Given the description of an element on the screen output the (x, y) to click on. 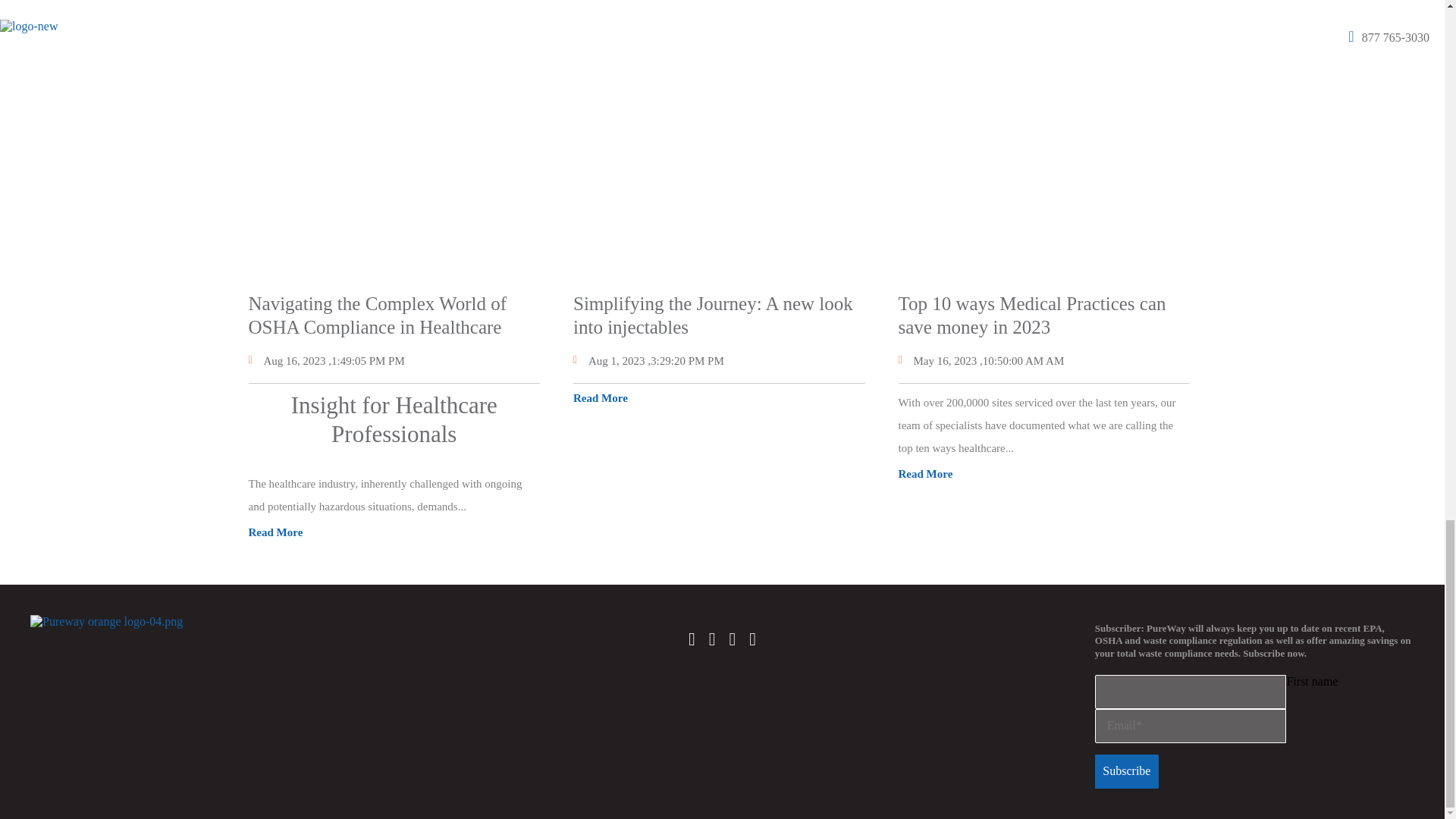
Read More (925, 473)
click here (995, 0)
Subscribe (1126, 771)
Subscribe (1126, 771)
Pureway orange logo-04.png (106, 621)
Read More (275, 532)
Read More (600, 398)
